Given the description of an element on the screen output the (x, y) to click on. 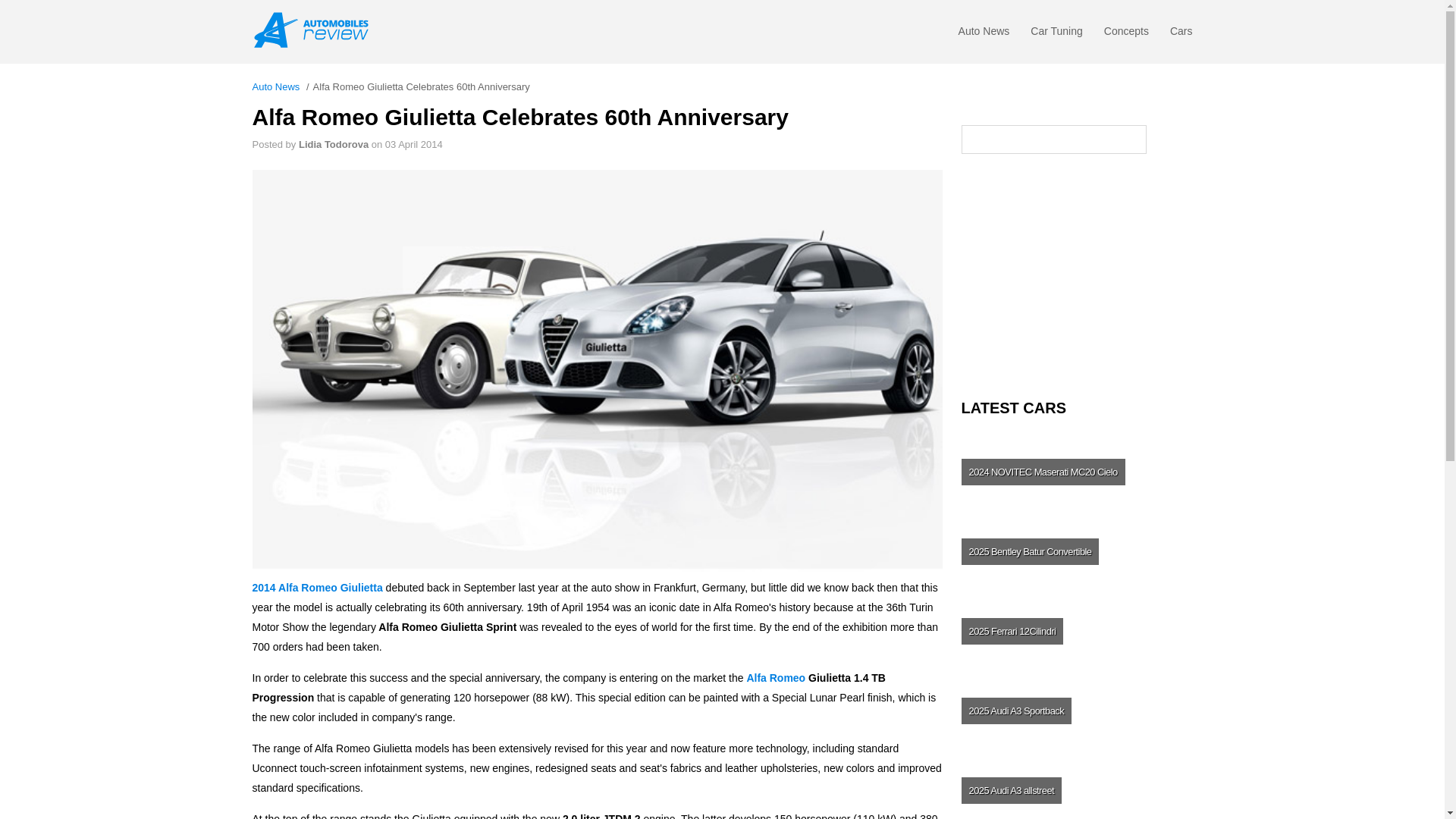
Cars (1181, 35)
Auto News (275, 86)
Car Tuning (1055, 35)
NOVITEC Maserati MC20 Cielo (1074, 471)
2014 Alfa Romeo Giulietta (316, 587)
Alfa Romeo (775, 677)
Auto News (984, 35)
Concepts (1125, 35)
Car Tuning (1055, 35)
LATEST CARS (1076, 407)
Bentley Batur Convertible (1074, 550)
Automobilesreview.com (315, 30)
Concepts (1125, 35)
Audi A3 Sportback (1074, 710)
Auto News (984, 35)
